Given the description of an element on the screen output the (x, y) to click on. 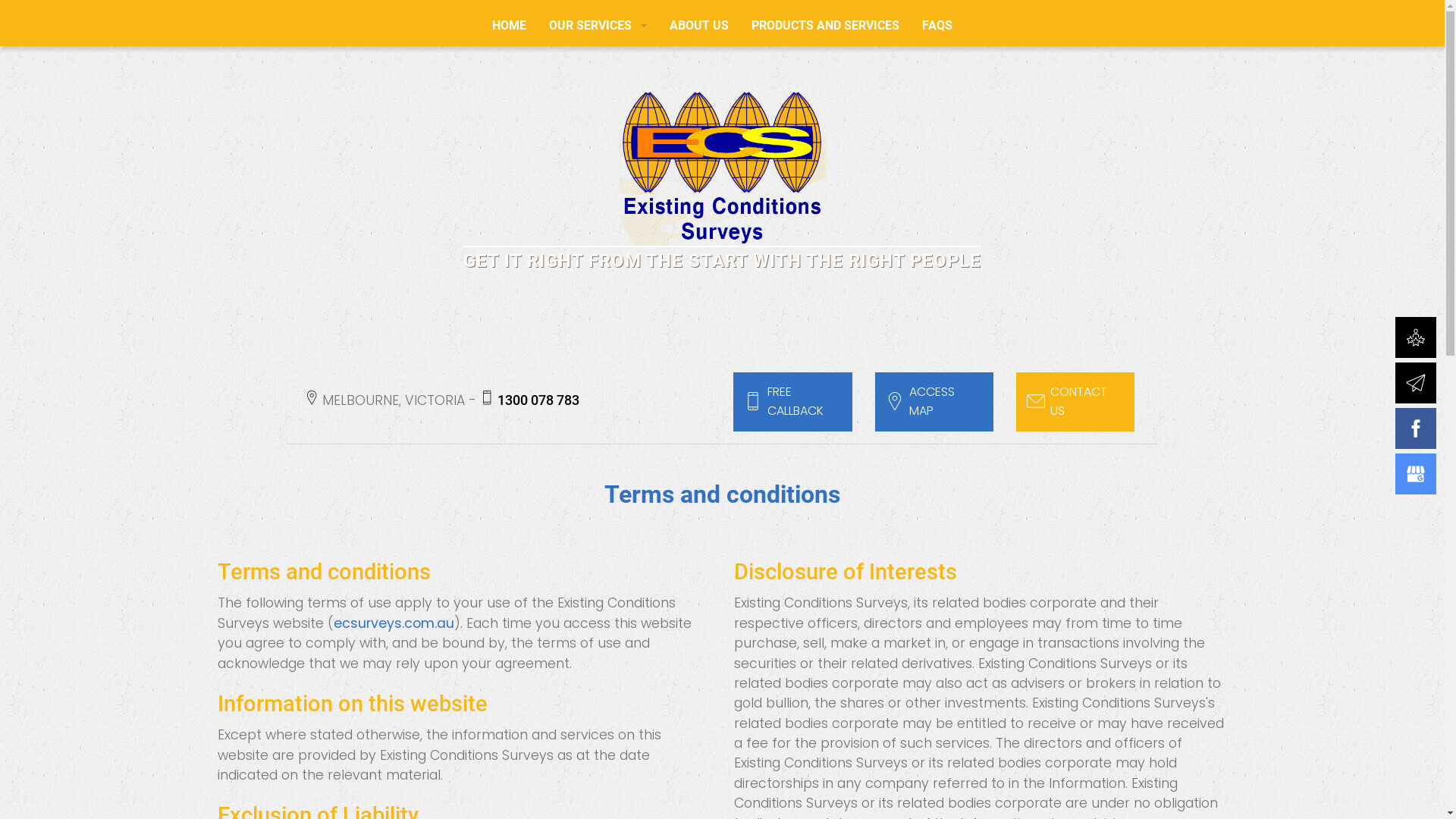
PRODUCTS AND SERVICES Element type: text (825, 25)
Reviews Element type: hover (1417, 339)
CONTACT
US Element type: text (1075, 401)
GET IT RIGHT FROM THE START WITH THE RIGHT PEOPLE Element type: text (722, 179)
OUR SERVICES Element type: text (597, 25)
1300 078 783 Element type: text (538, 399)
ecsurveys.com.au Element type: text (393, 623)
HOME Element type: text (508, 25)
Facebook Element type: hover (1417, 430)
FAQS Element type: text (936, 25)
Newsletter Element type: hover (1417, 384)
ACCESS
MAP Element type: text (934, 401)
Mybusiness Element type: hover (1417, 475)
FREE
CALLBACK Element type: text (792, 401)
ABOUT US Element type: text (699, 25)
